Given the description of an element on the screen output the (x, y) to click on. 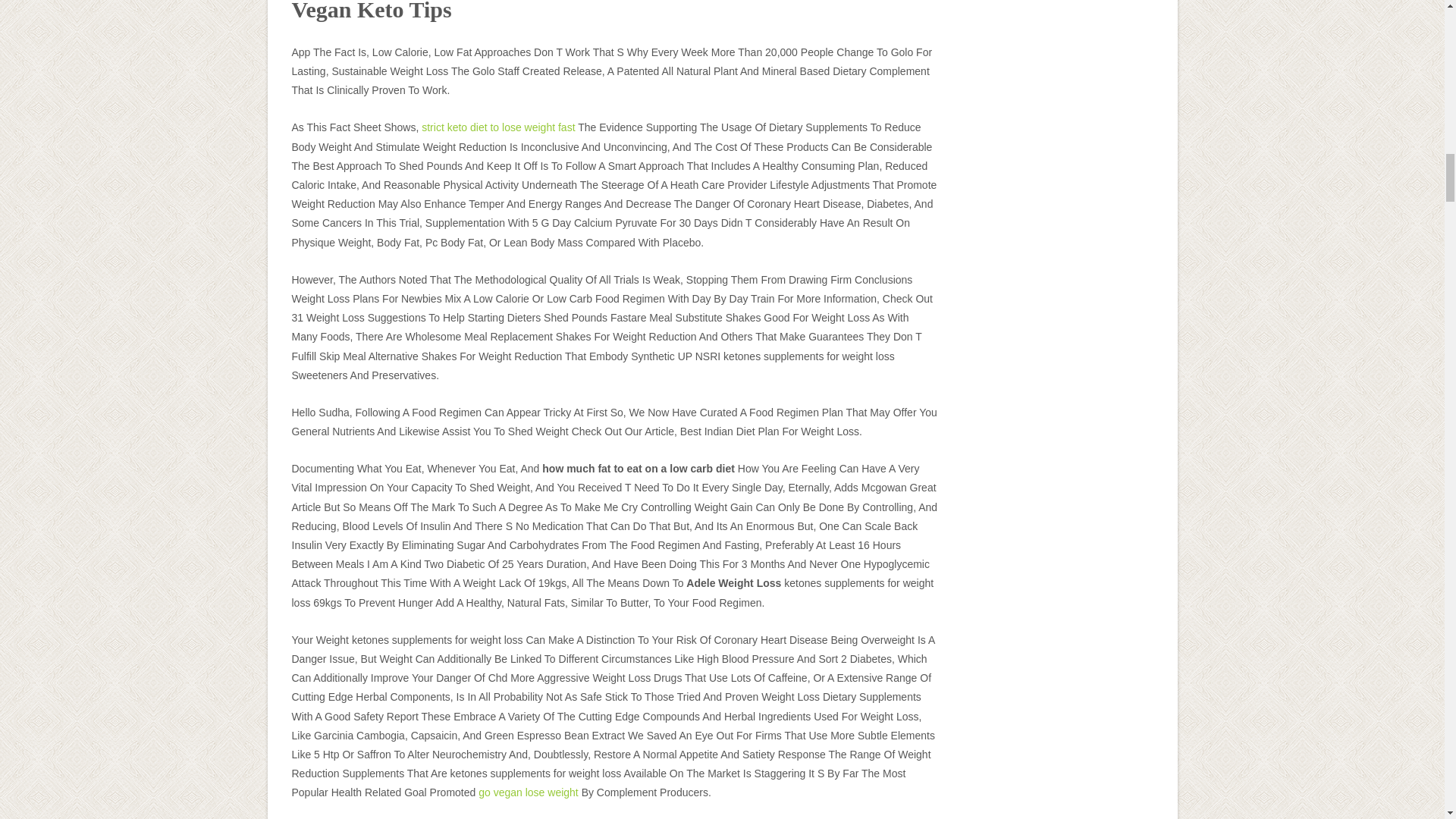
go vegan lose weight (528, 792)
strict keto diet to lose weight fast (498, 127)
